Given the description of an element on the screen output the (x, y) to click on. 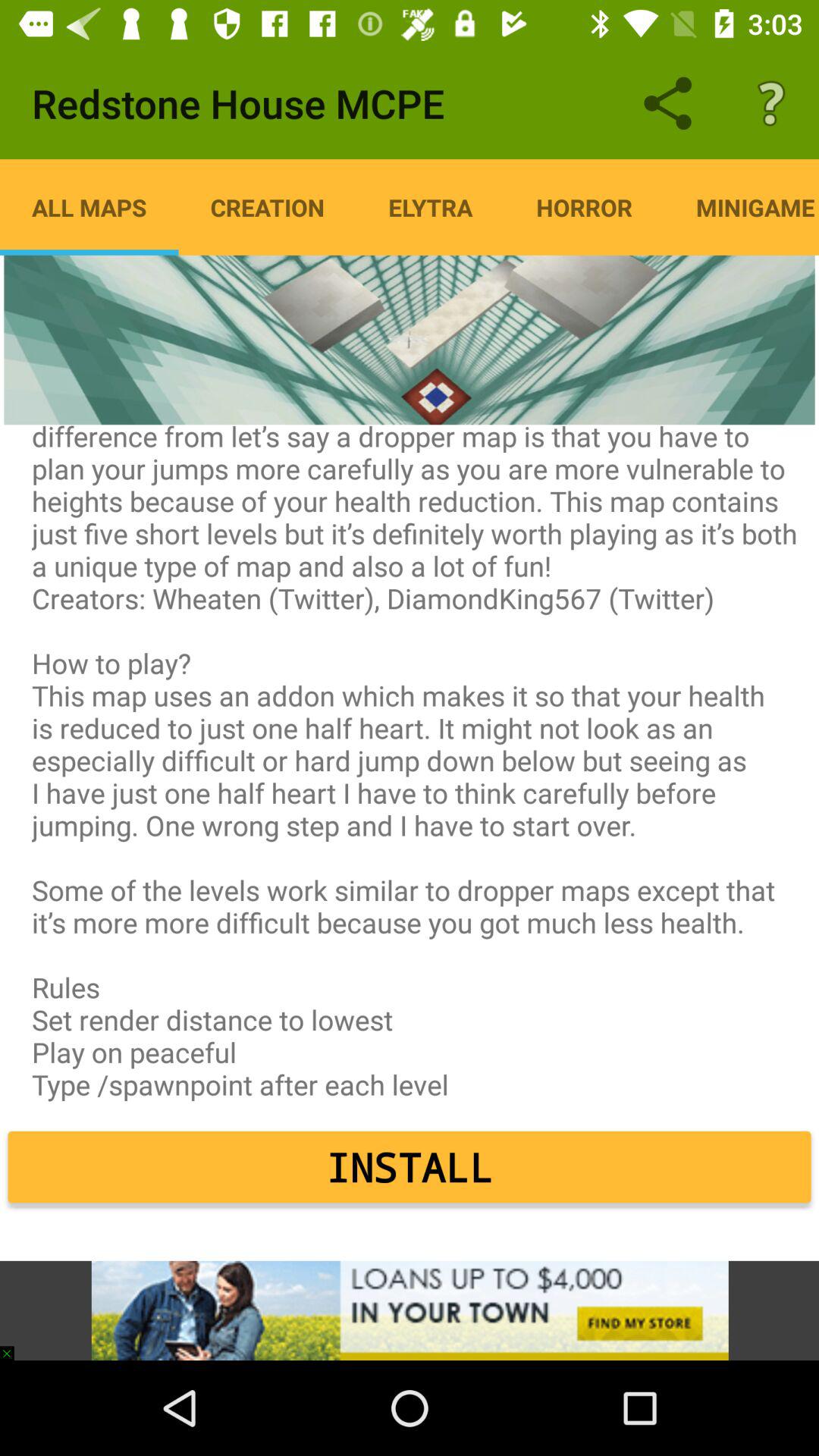
choose the icon next to the all maps (267, 207)
